Given the description of an element on the screen output the (x, y) to click on. 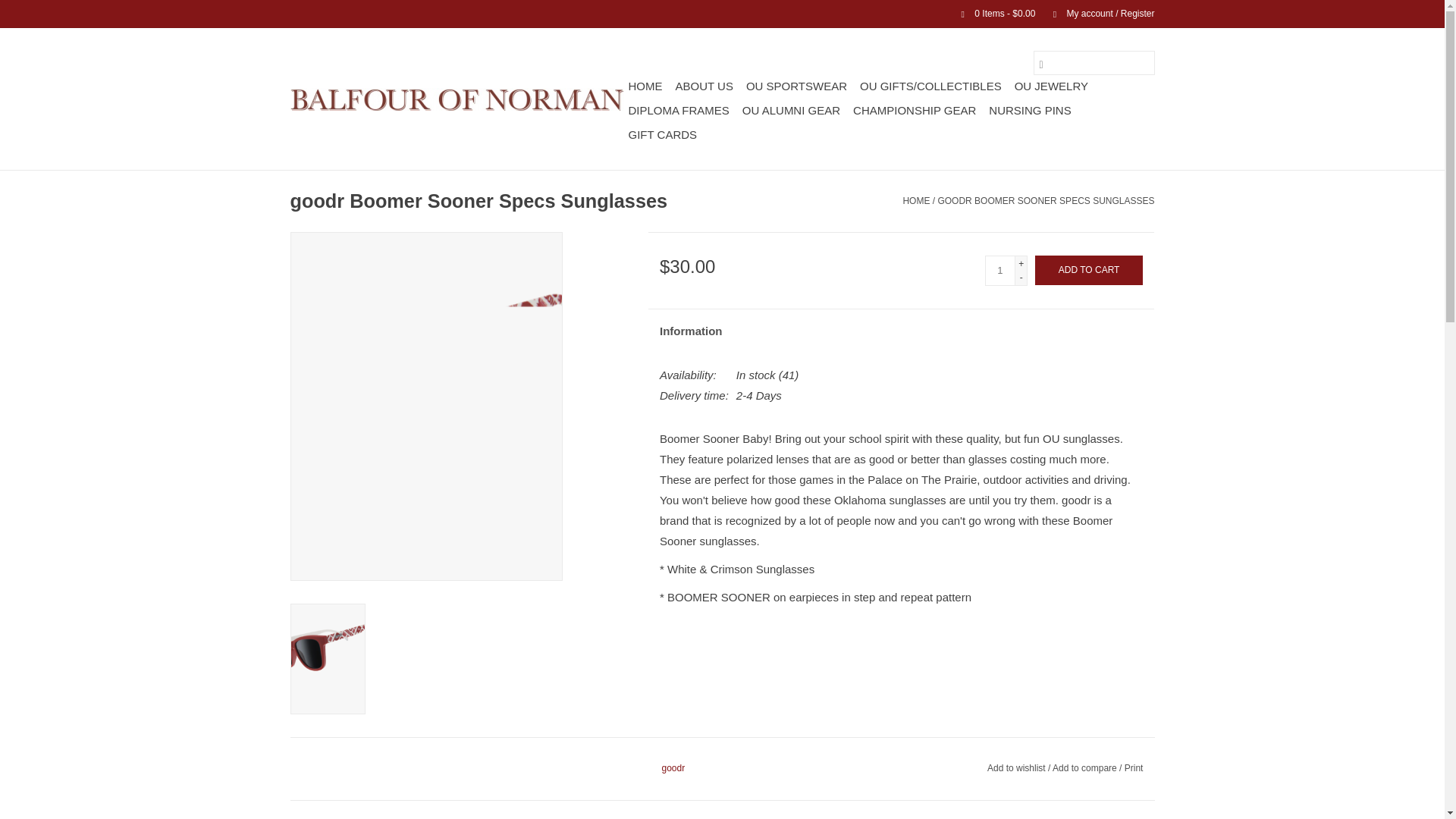
1 (999, 270)
OU SPORTSWEAR (796, 86)
My account (1096, 13)
OU Sportswear (796, 86)
HOME (644, 86)
About Us (702, 86)
Balfour of Norman (456, 98)
Cart (992, 13)
ABOUT US (702, 86)
